Given the description of an element on the screen output the (x, y) to click on. 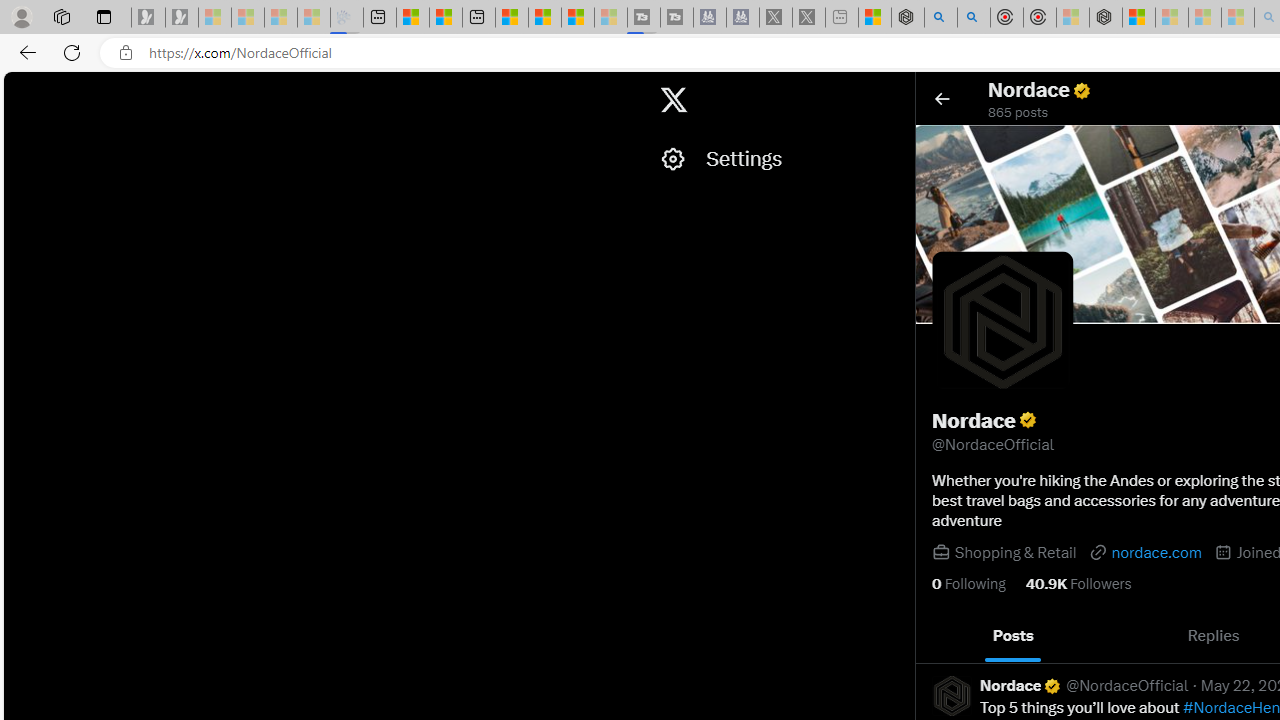
poe - Search (941, 17)
Newsletter Sign Up - Sleeping (182, 17)
Posts (1013, 636)
Shopping & Retail (1014, 551)
poe ++ standard - Search (973, 17)
Verified account (1052, 686)
